Given the description of an element on the screen output the (x, y) to click on. 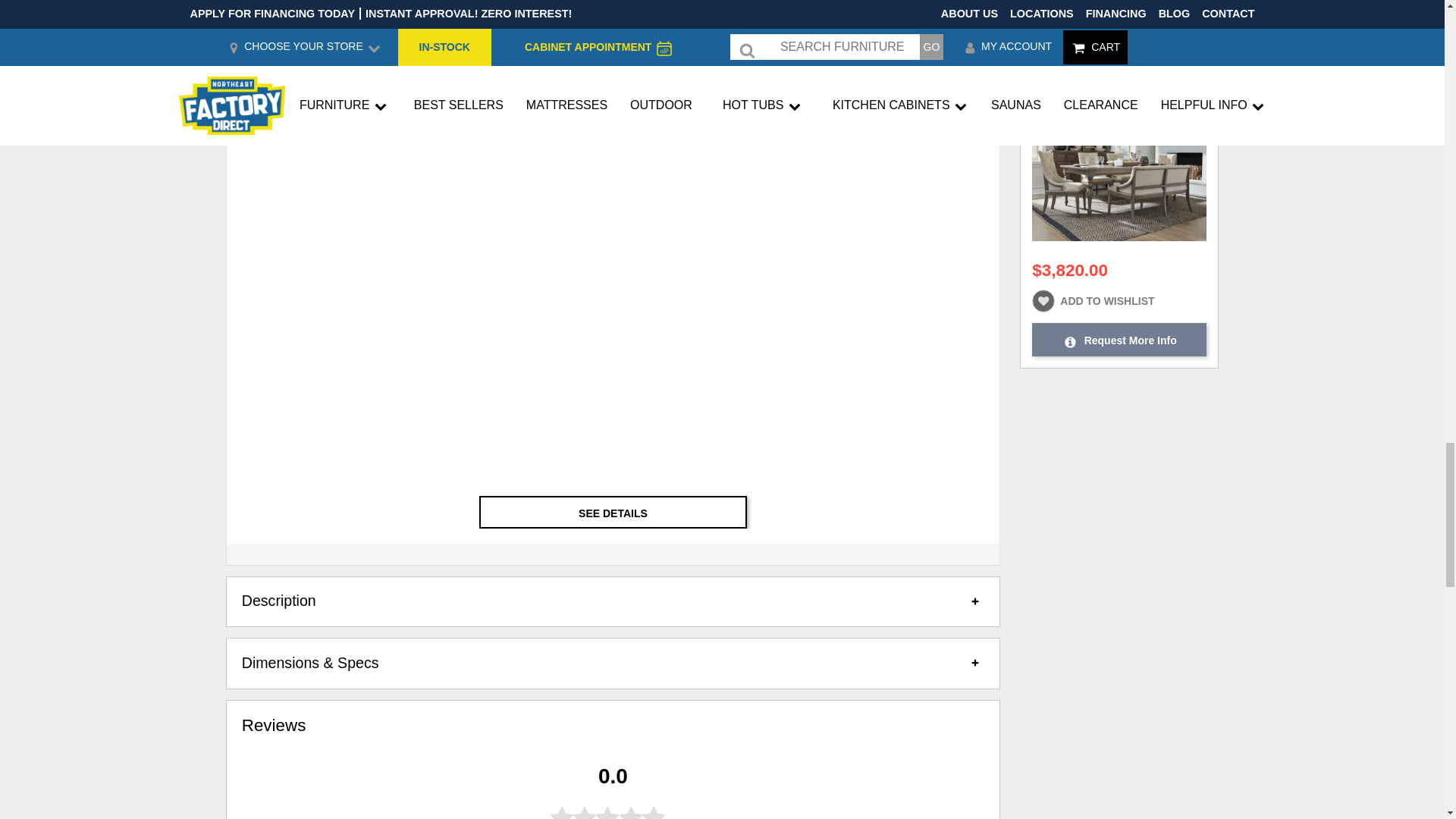
See Details of Americana Farmhouse Pedestal Table (612, 511)
